Given the description of an element on the screen output the (x, y) to click on. 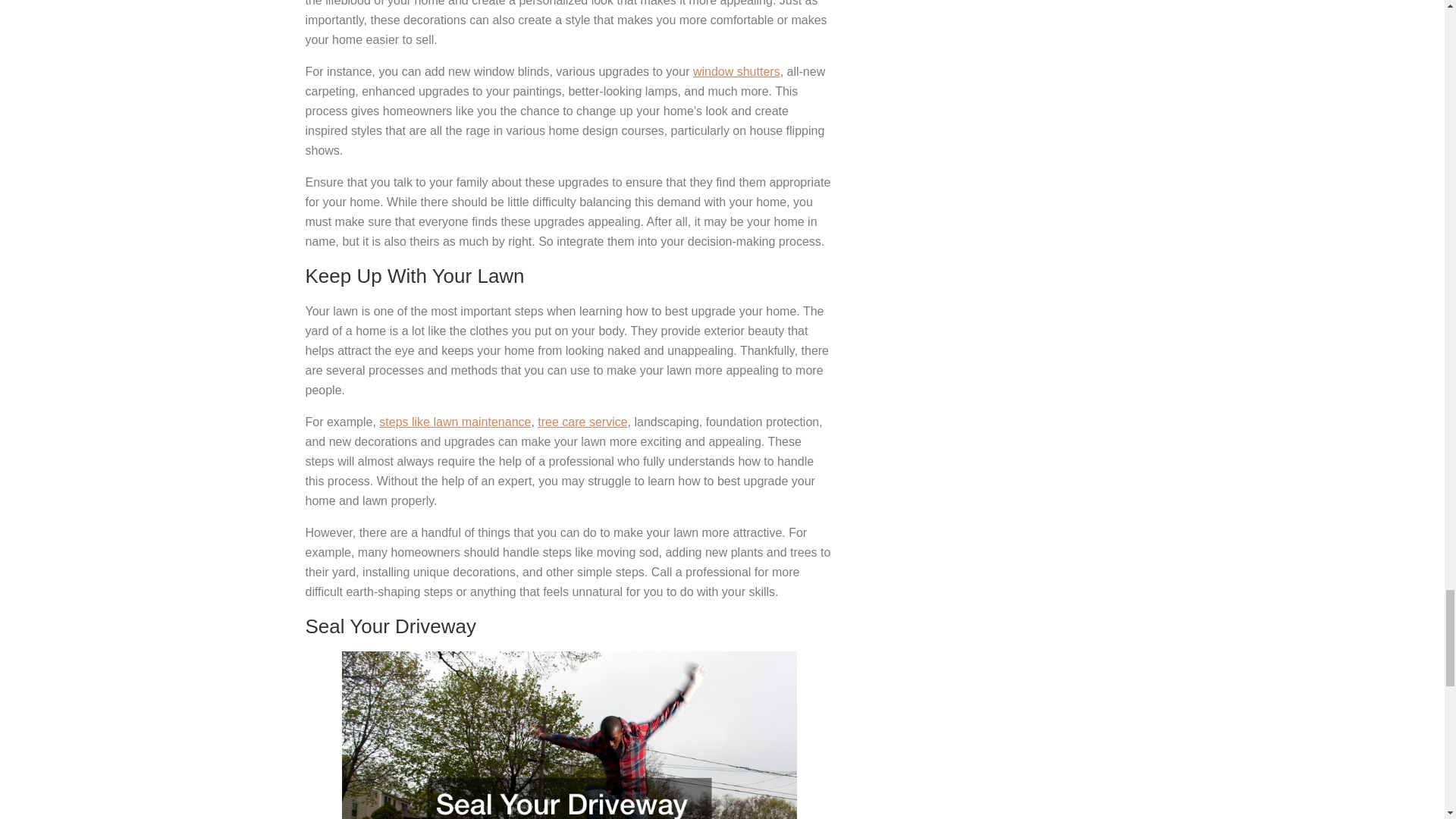
steps like lawn maintenance (454, 421)
window shutters (736, 71)
tree care service (582, 421)
